Given the description of an element on the screen output the (x, y) to click on. 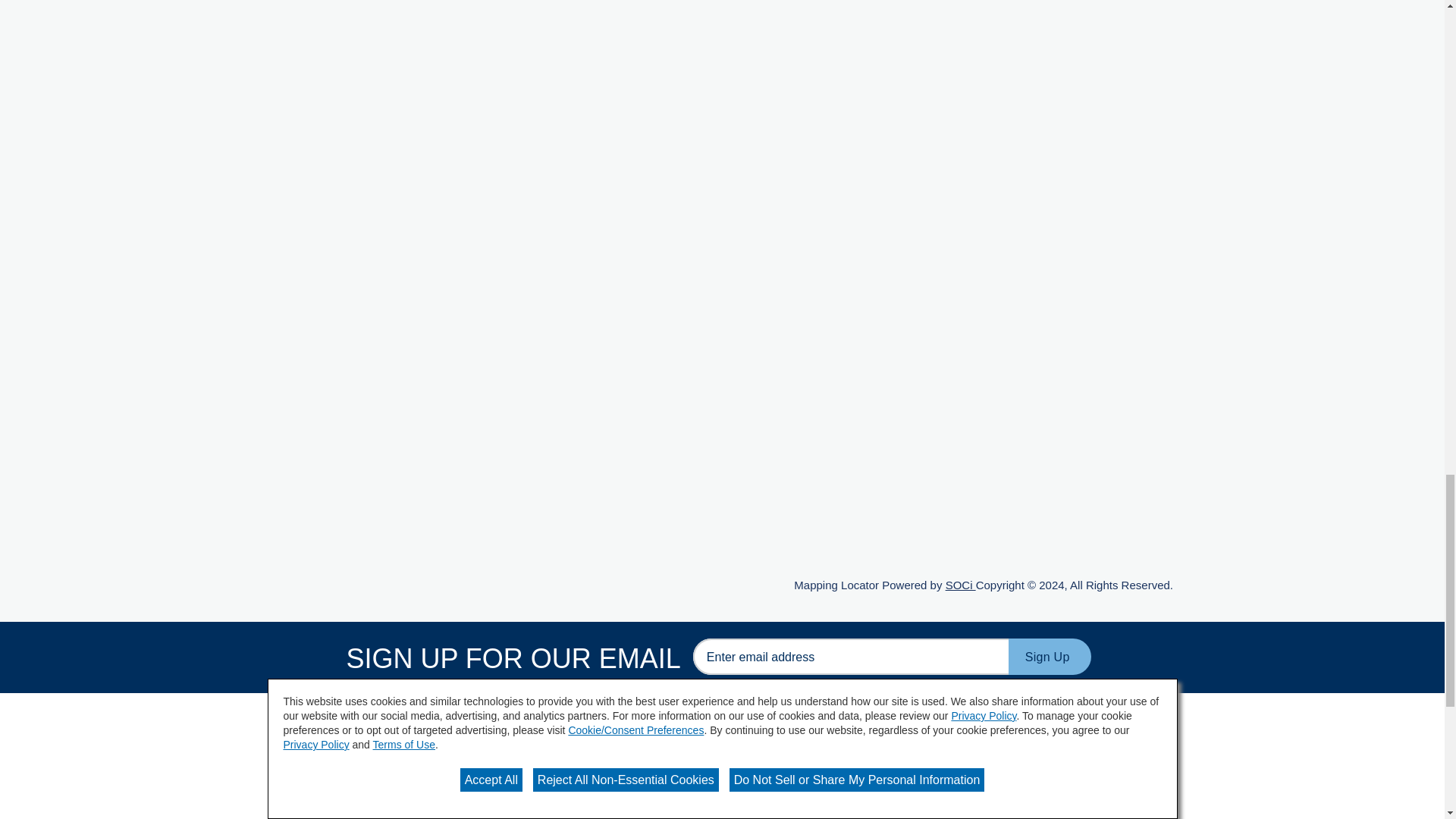
Sign Up (1049, 656)
SIGN UP FOR OUR EMAIL (851, 656)
Valspar Brand Logo (345, 763)
